Given the description of an element on the screen output the (x, y) to click on. 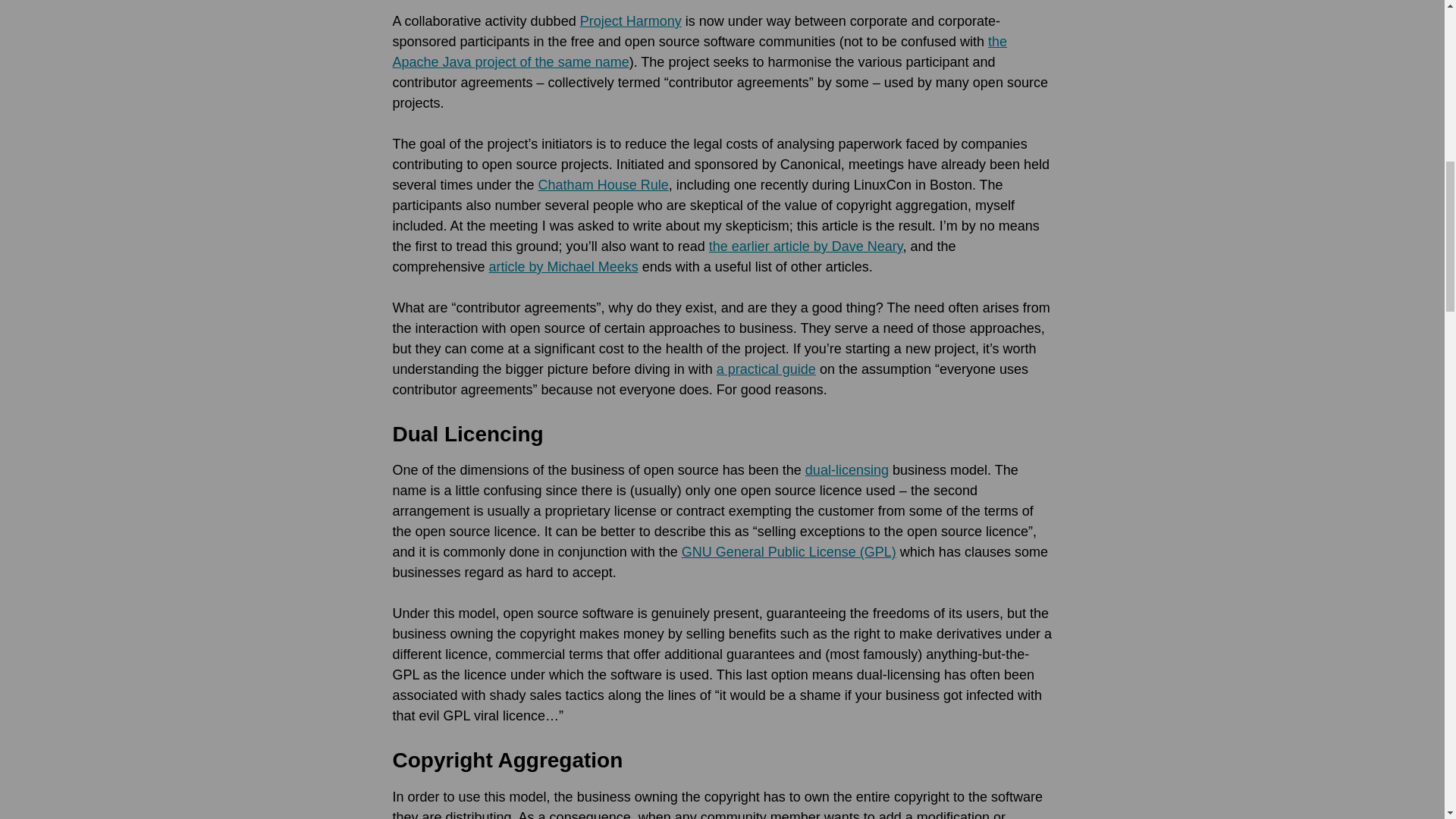
article by Michael Meeks (564, 266)
Project Harmony (630, 20)
the earlier article by Dave Neary (805, 246)
GNU General Public License (788, 551)
Chatham House Rule (603, 184)
Multi-licensing (846, 469)
the Apache Java project of the same name (700, 51)
